Given the description of an element on the screen output the (x, y) to click on. 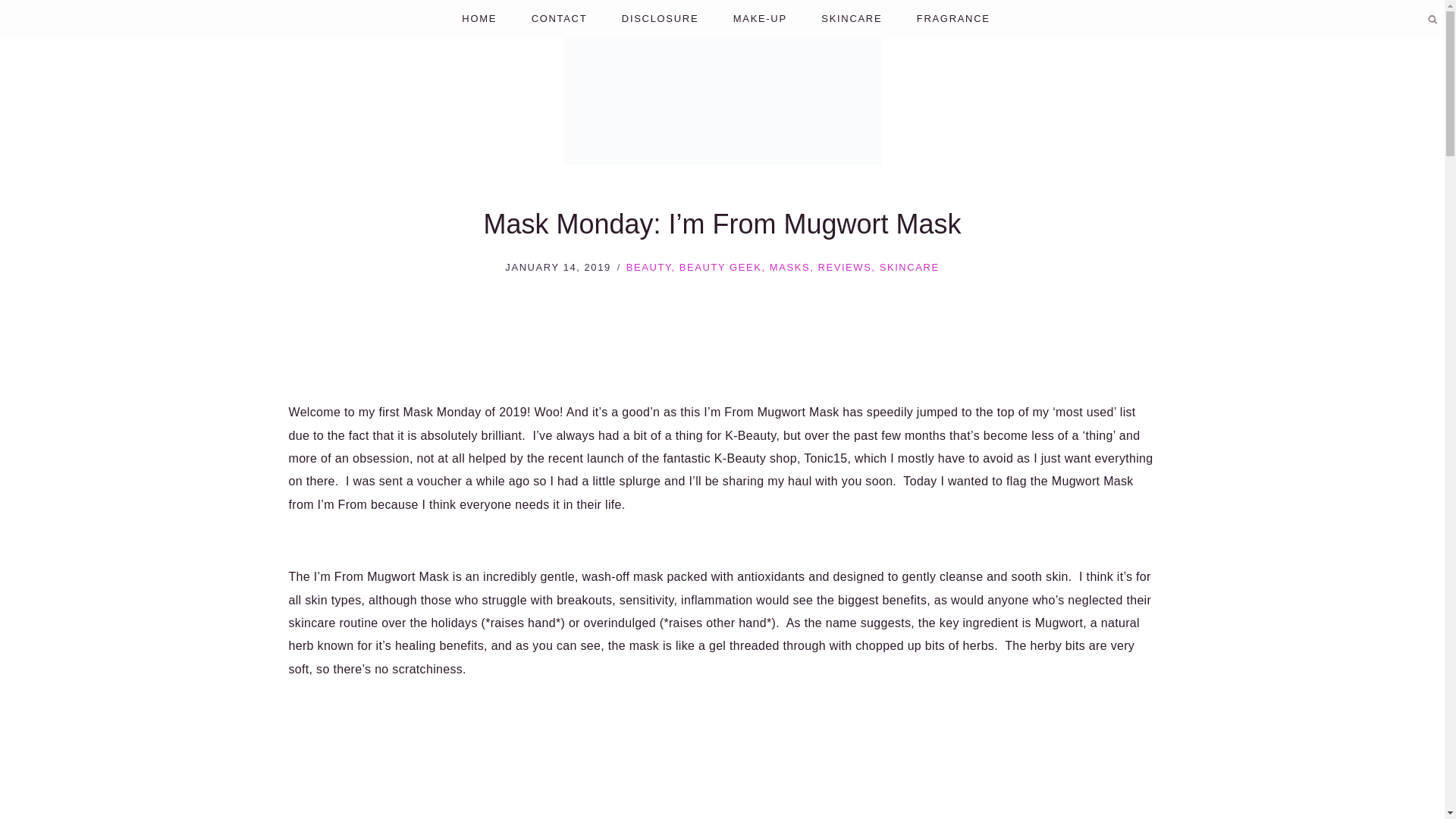
SKINCARE (909, 266)
MAKE-UP (760, 19)
REVIEWS (843, 266)
BEAUTY GEEK (720, 266)
MASKS (789, 266)
CONTACT (558, 19)
DISCLOSURE (660, 19)
BEAUTY (648, 266)
SKINCARE (852, 19)
HOME (479, 19)
